Given the description of an element on the screen output the (x, y) to click on. 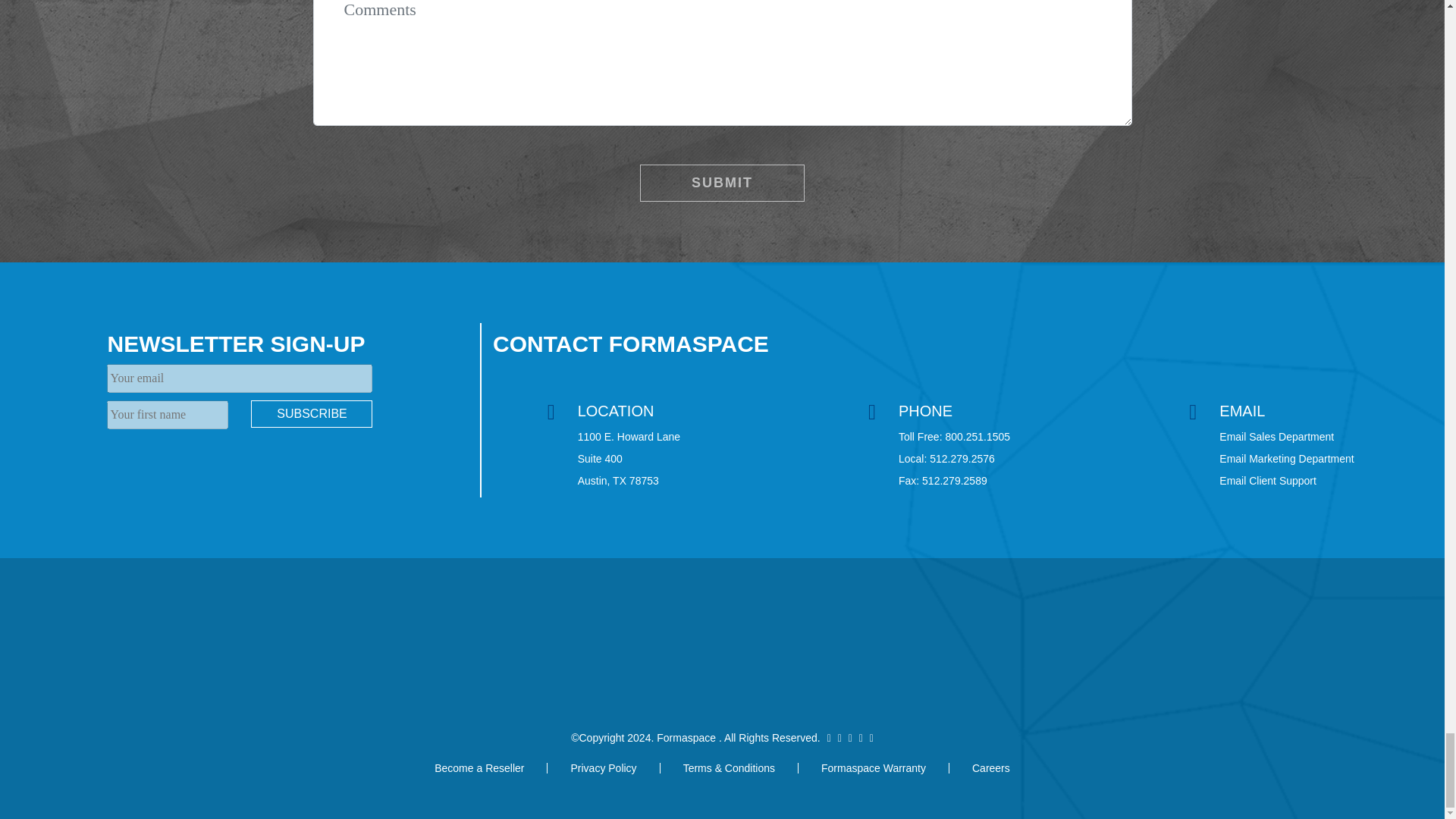
Subscribe (311, 413)
